Given the description of an element on the screen output the (x, y) to click on. 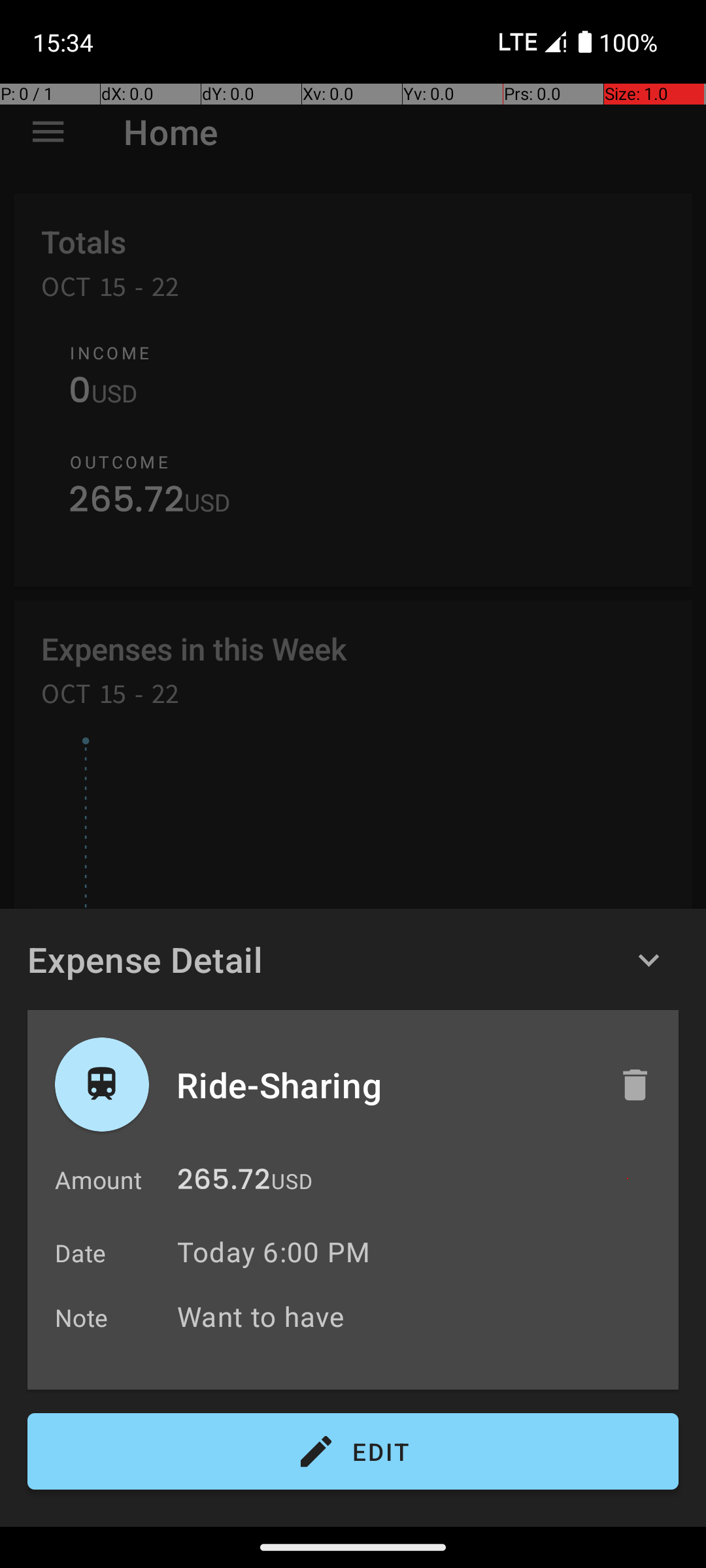
265.72 Element type: android.widget.TextView (223, 1182)
Today 6:00 PM Element type: android.widget.TextView (273, 1251)
